Given the description of an element on the screen output the (x, y) to click on. 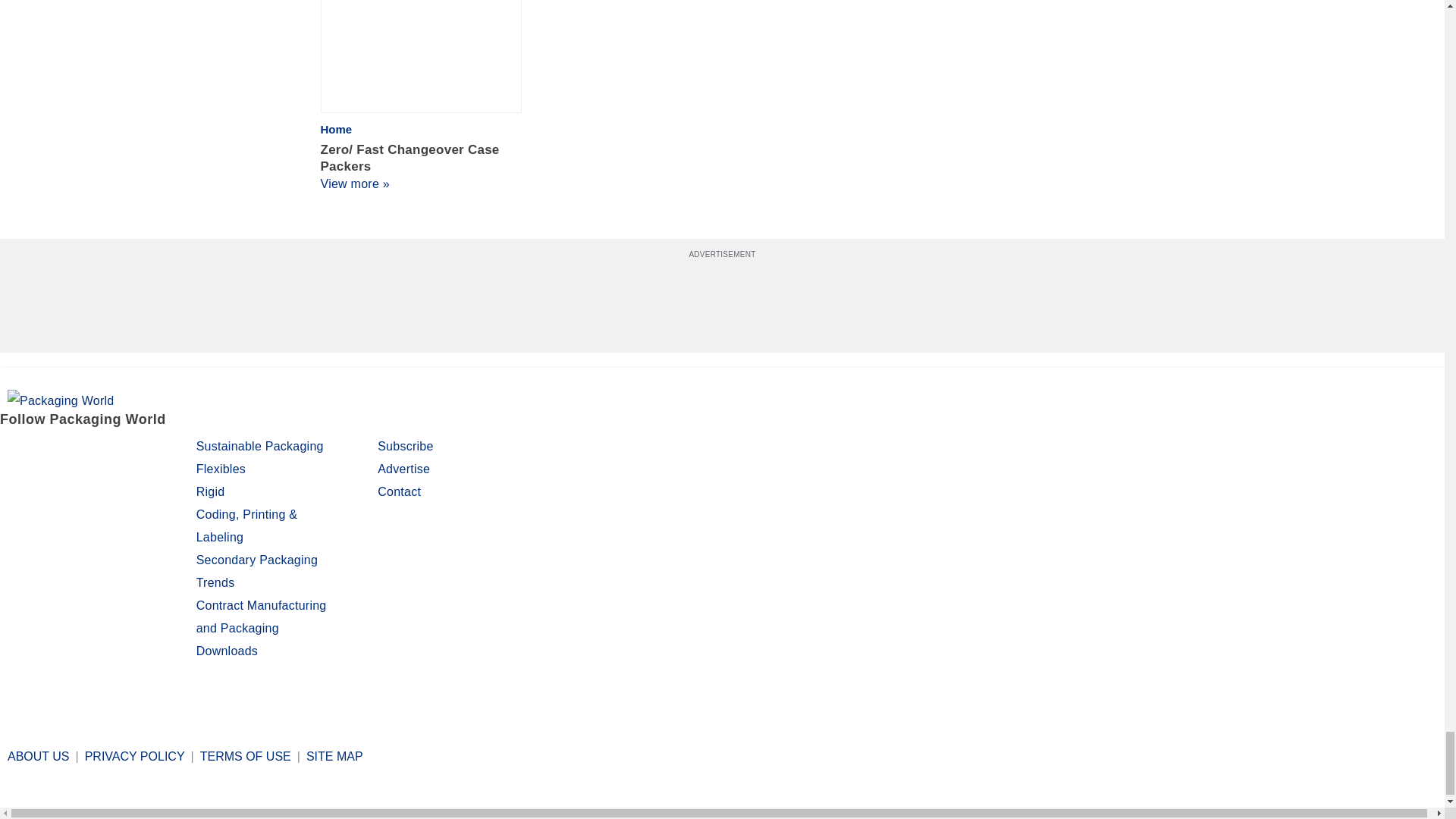
YouTube icon (133, 448)
Facebook icon (13, 448)
LinkedIn icon (94, 448)
Twitter X icon (52, 448)
